Given the description of an element on the screen output the (x, y) to click on. 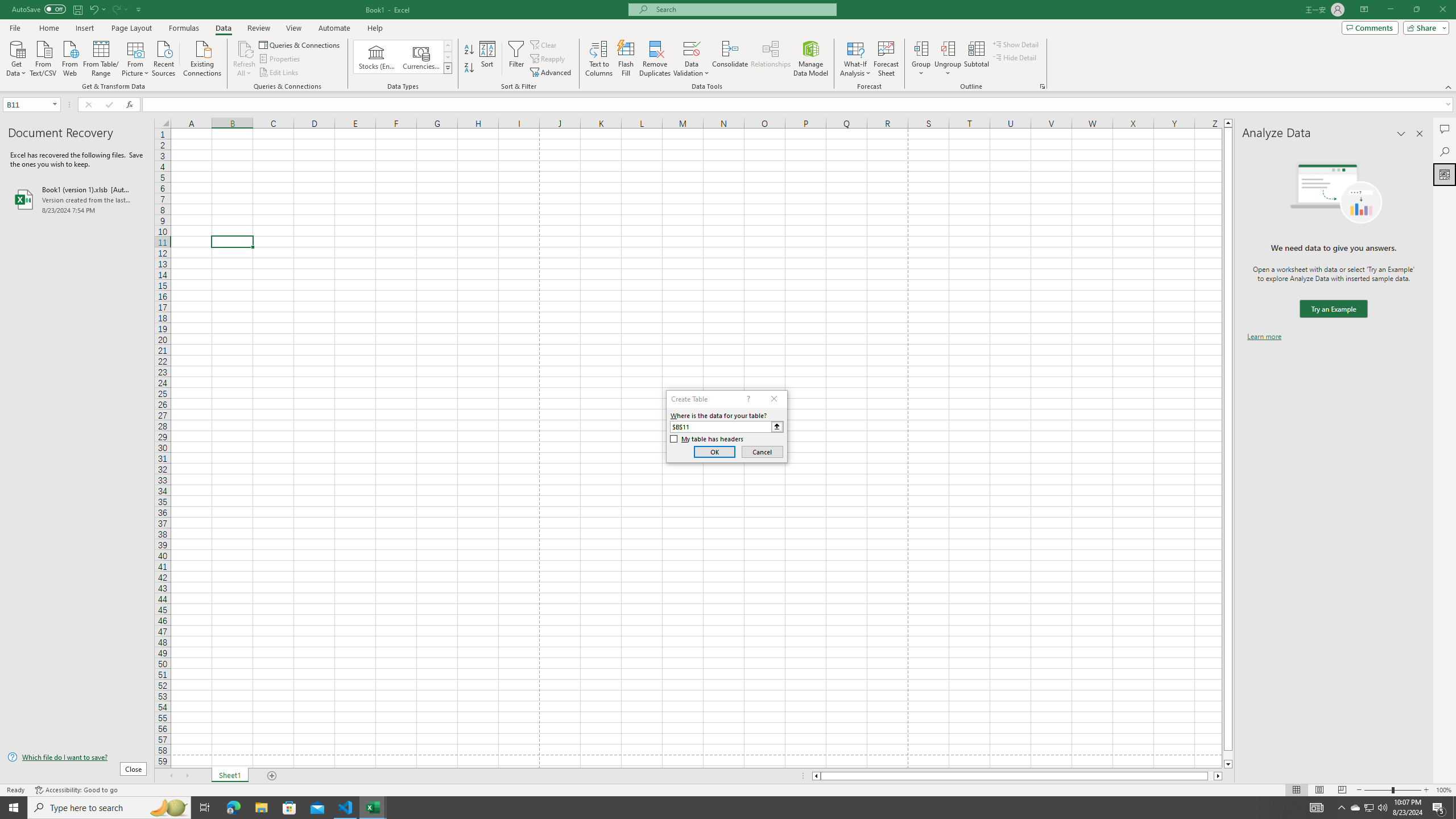
Queries & Connections (300, 44)
Clear (544, 44)
Get Data (16, 57)
Manage Data Model (810, 58)
Reapply (548, 58)
